Given the description of an element on the screen output the (x, y) to click on. 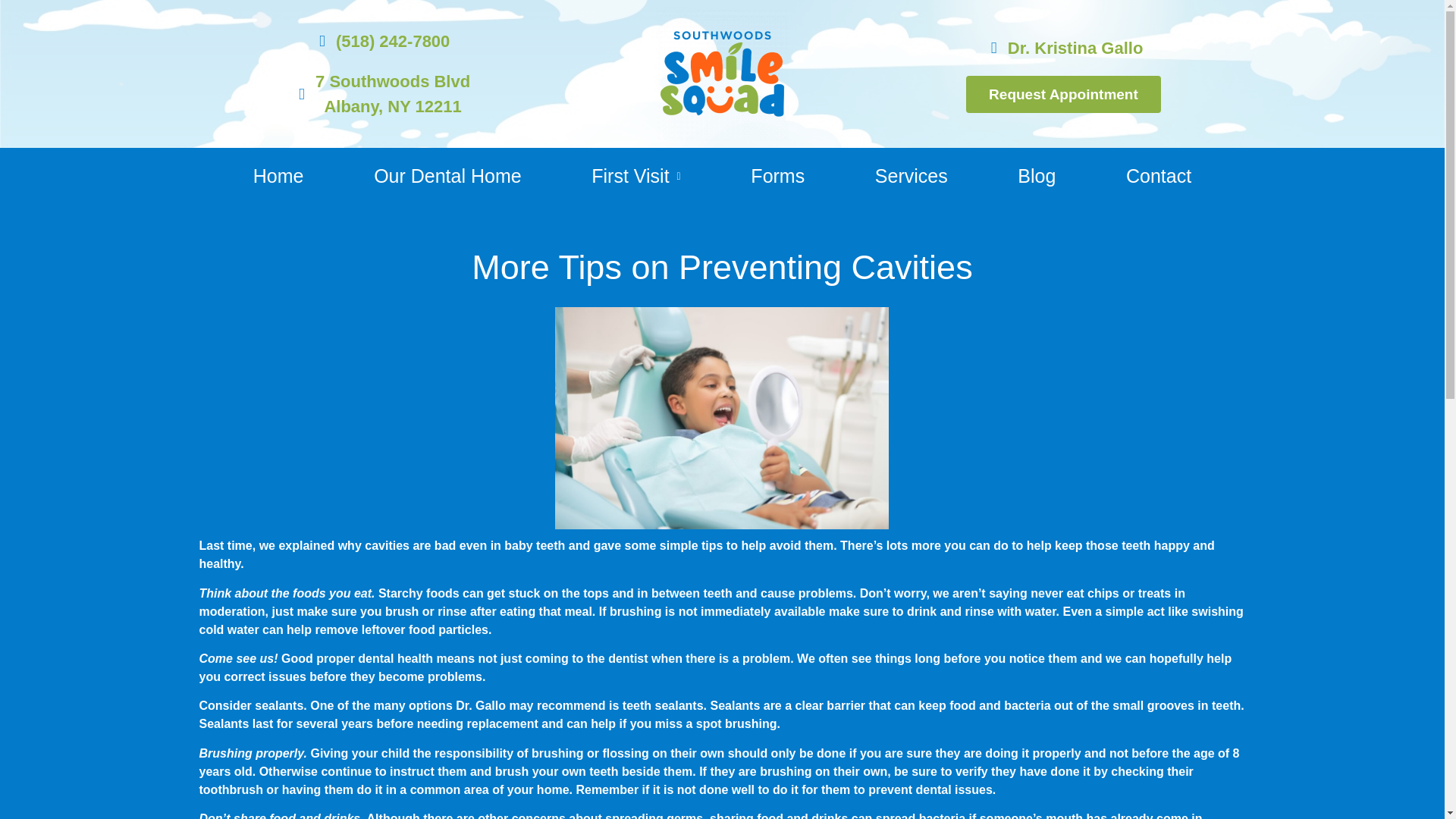
Dr. Kristina Gallo (1062, 47)
Services (381, 93)
First Visit (912, 176)
Contact (636, 176)
Forms (1158, 176)
Home (778, 176)
Our Dental Home (278, 176)
Request Appointment (447, 176)
Blog (1063, 94)
